Given the description of an element on the screen output the (x, y) to click on. 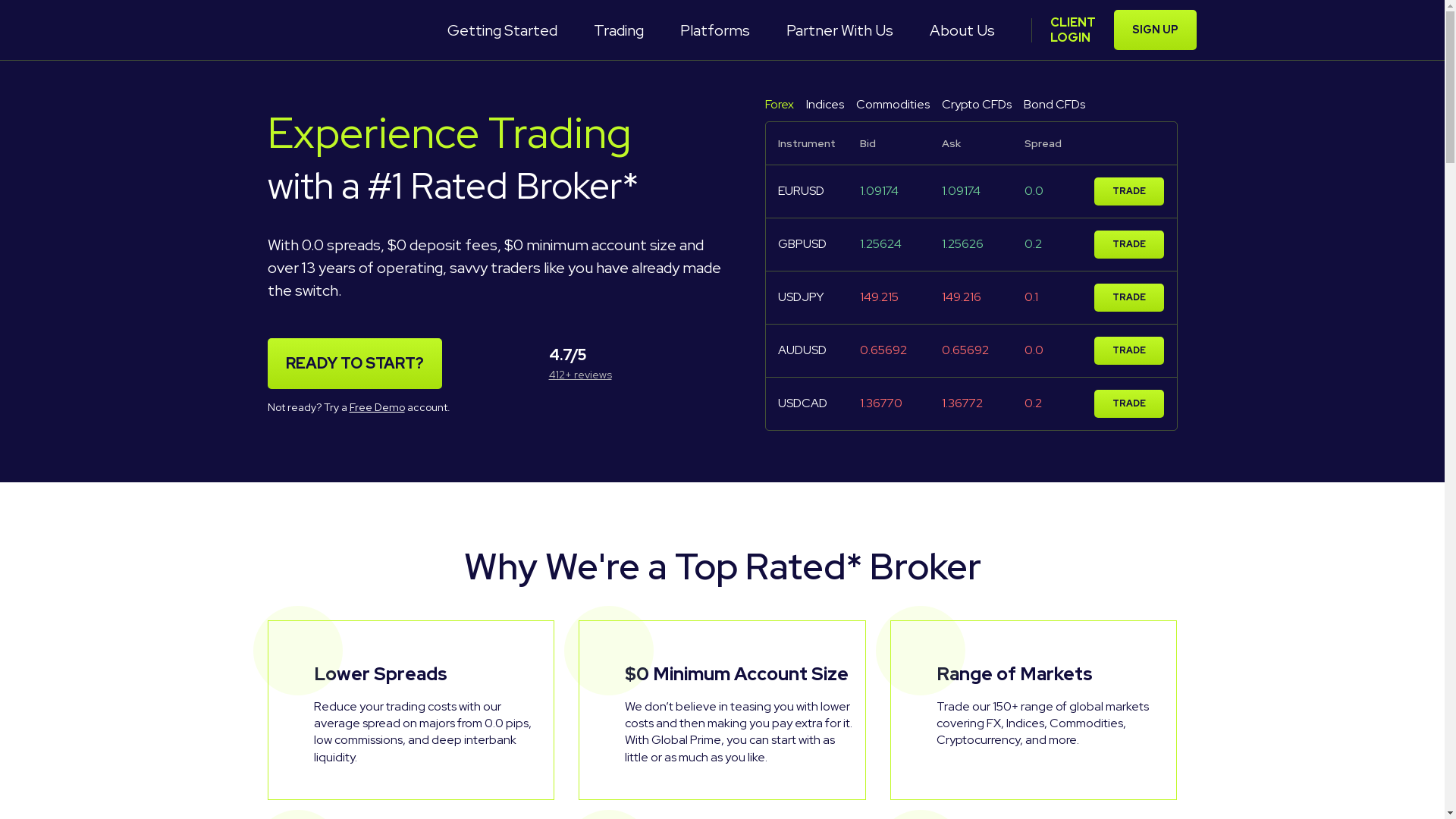
CLIENT LOGIN Element type: text (1072, 29)
Commodities Element type: text (891, 104)
Bond CFDs Element type: text (1054, 104)
READY TO START? Element type: text (353, 363)
Indices Element type: text (824, 104)
TRADE Element type: text (1129, 244)
Free Demo Element type: text (376, 407)
Crypto CFDs Element type: text (976, 104)
TRADE Element type: text (1129, 403)
SIGN UP Element type: text (1154, 29)
412+ reviews Element type: text (580, 374)
TRADE Element type: text (1129, 350)
TRADE Element type: text (1129, 191)
TRADE Element type: text (1129, 297)
Forex Element type: text (778, 104)
